Given the description of an element on the screen output the (x, y) to click on. 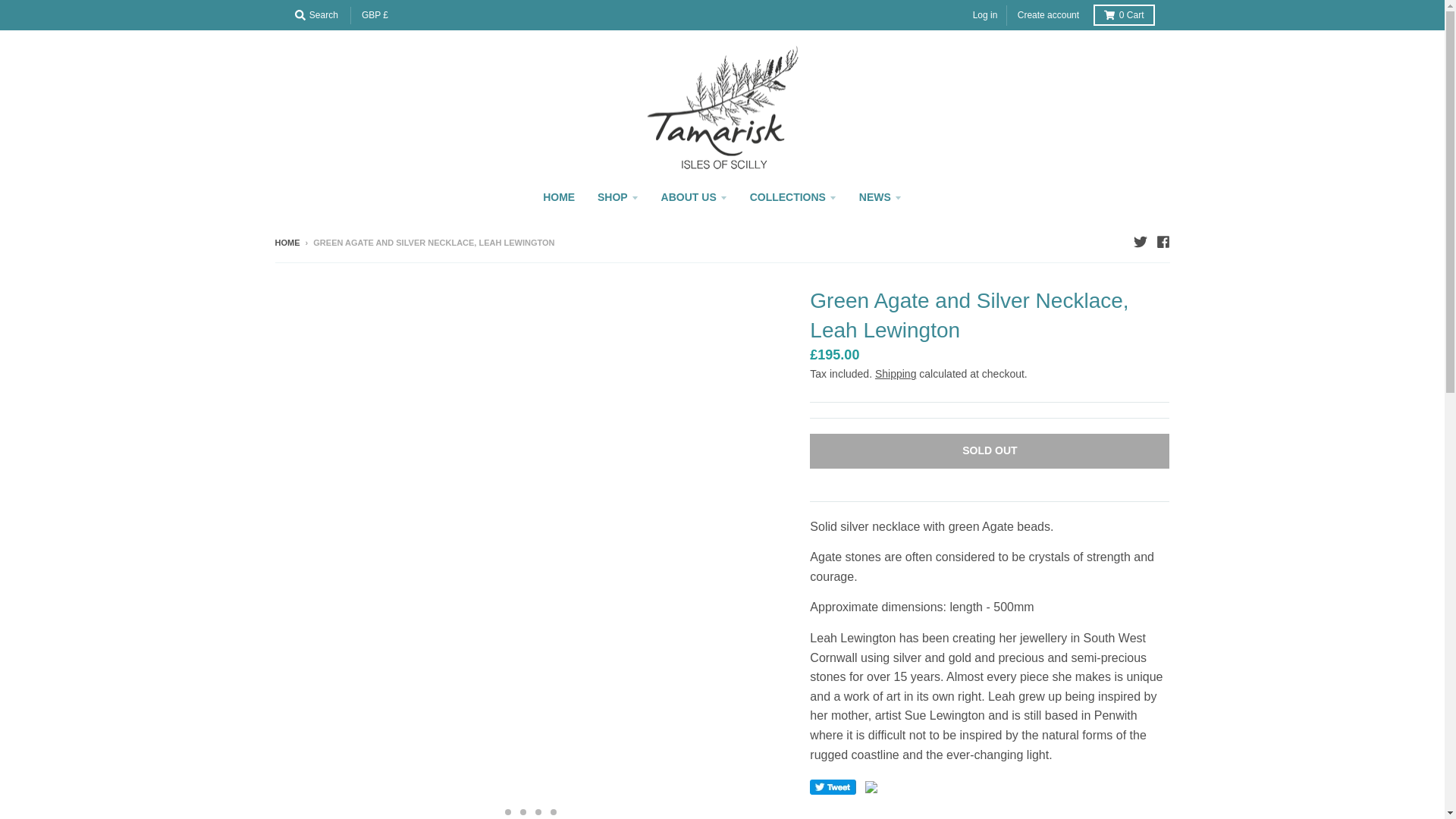
Twitter - Tamarisk Scilly (1139, 241)
Back to the frontpage (287, 242)
Facebook - Tamarisk Scilly (1162, 241)
Search (315, 14)
